Given the description of an element on the screen output the (x, y) to click on. 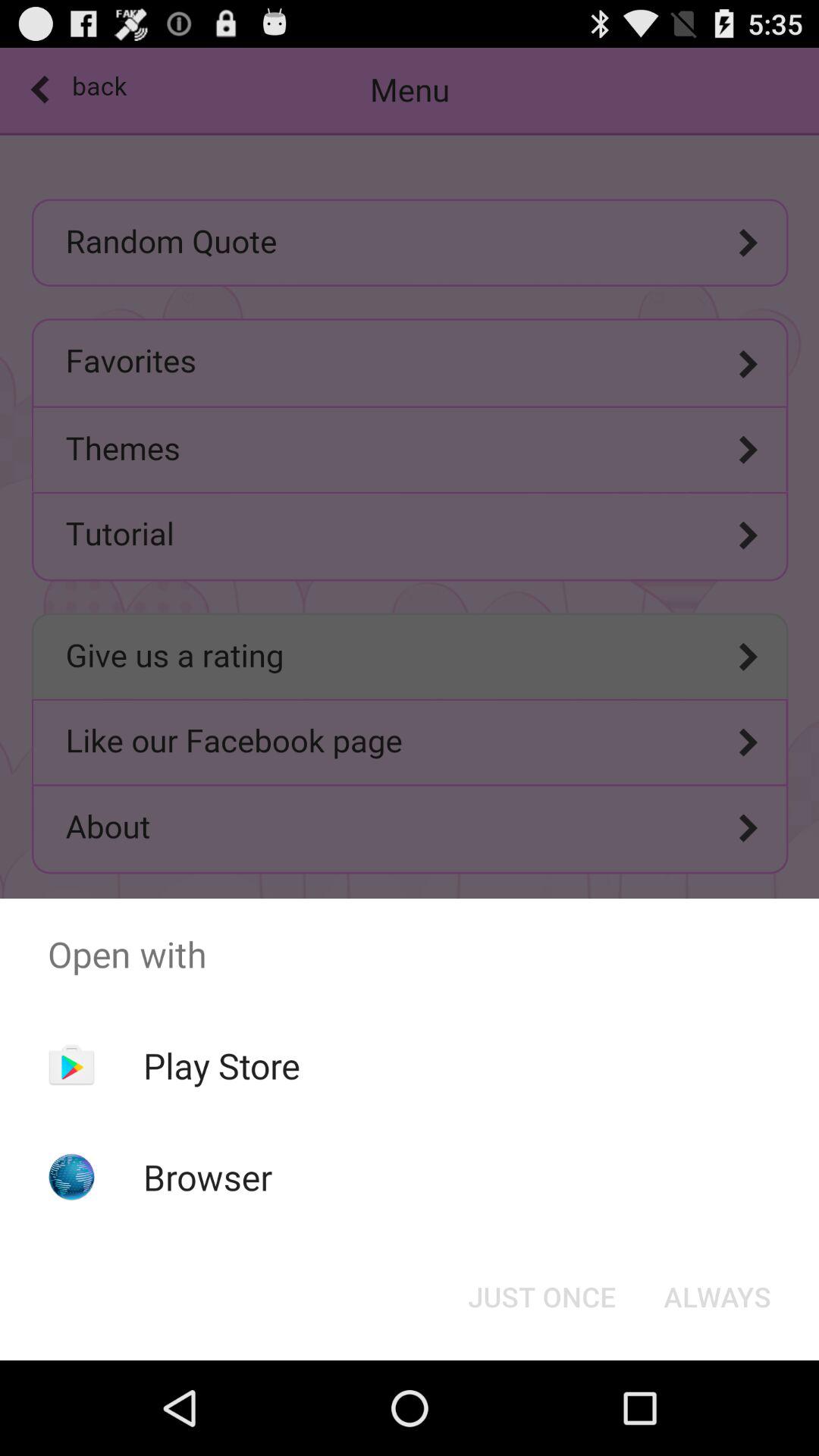
turn on the icon below open with icon (221, 1065)
